Given the description of an element on the screen output the (x, y) to click on. 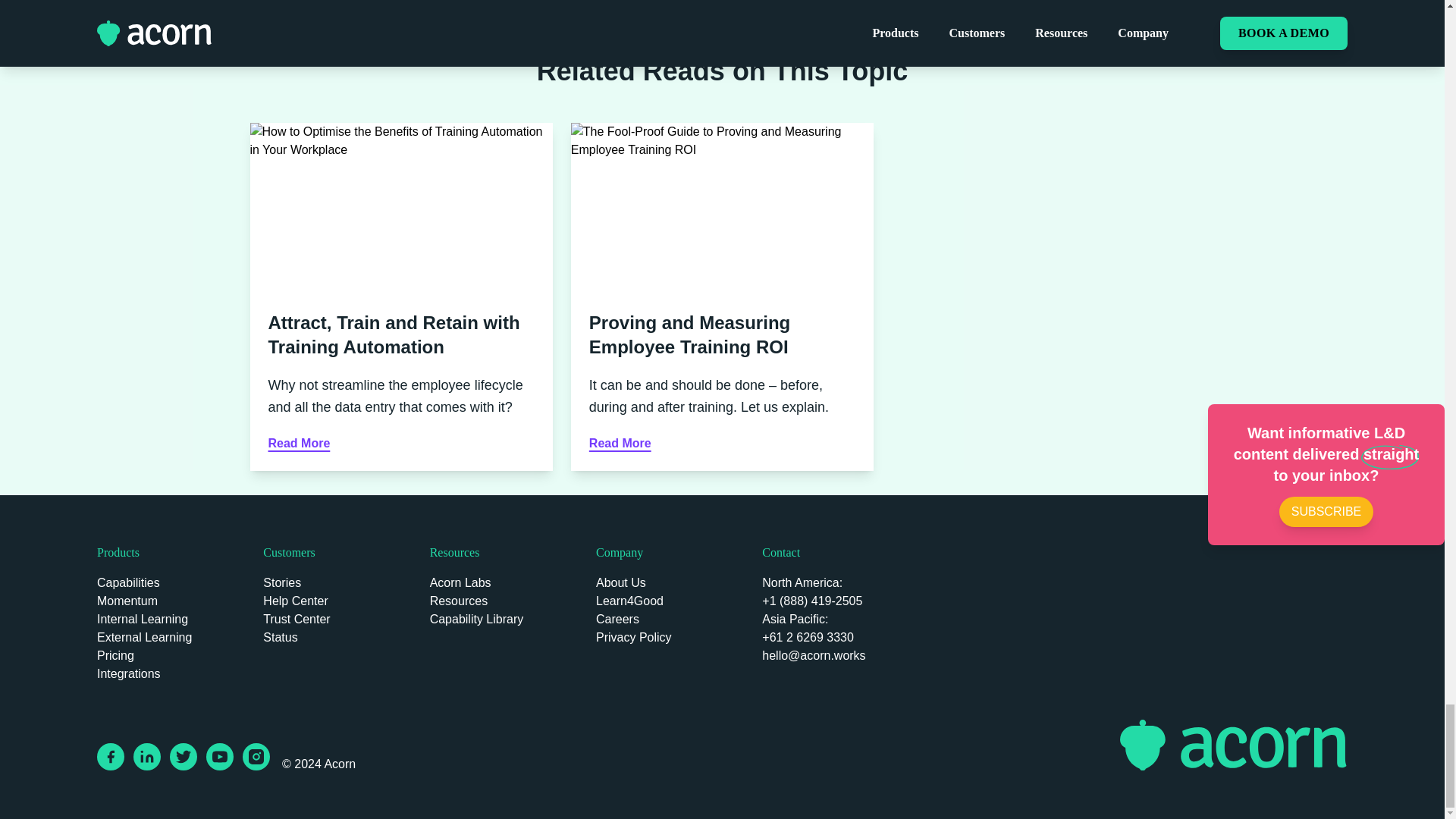
Acorn Logo (1233, 744)
twitter (183, 756)
linkedin (146, 756)
youtube (219, 756)
instagram (255, 756)
facebook (110, 756)
